Given the description of an element on the screen output the (x, y) to click on. 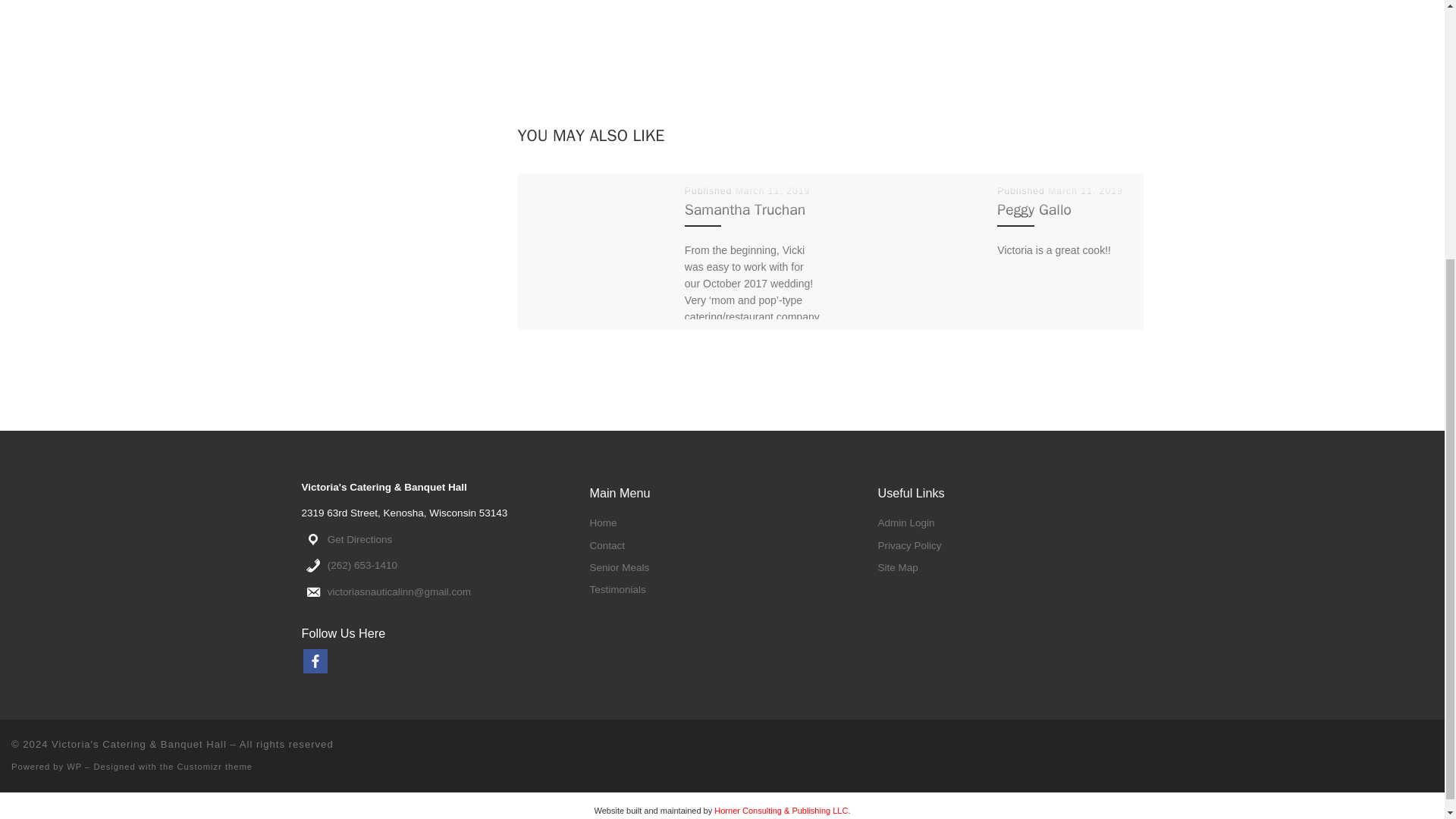
Peggy Gallo (1034, 209)
Facebook (314, 661)
Customizr theme (215, 766)
Customizr theme (215, 766)
Get Directions (360, 539)
Contact (606, 545)
March 11, 2019 (1085, 190)
Admin Login (905, 522)
Home (602, 522)
Site Map (897, 567)
